Given the description of an element on the screen output the (x, y) to click on. 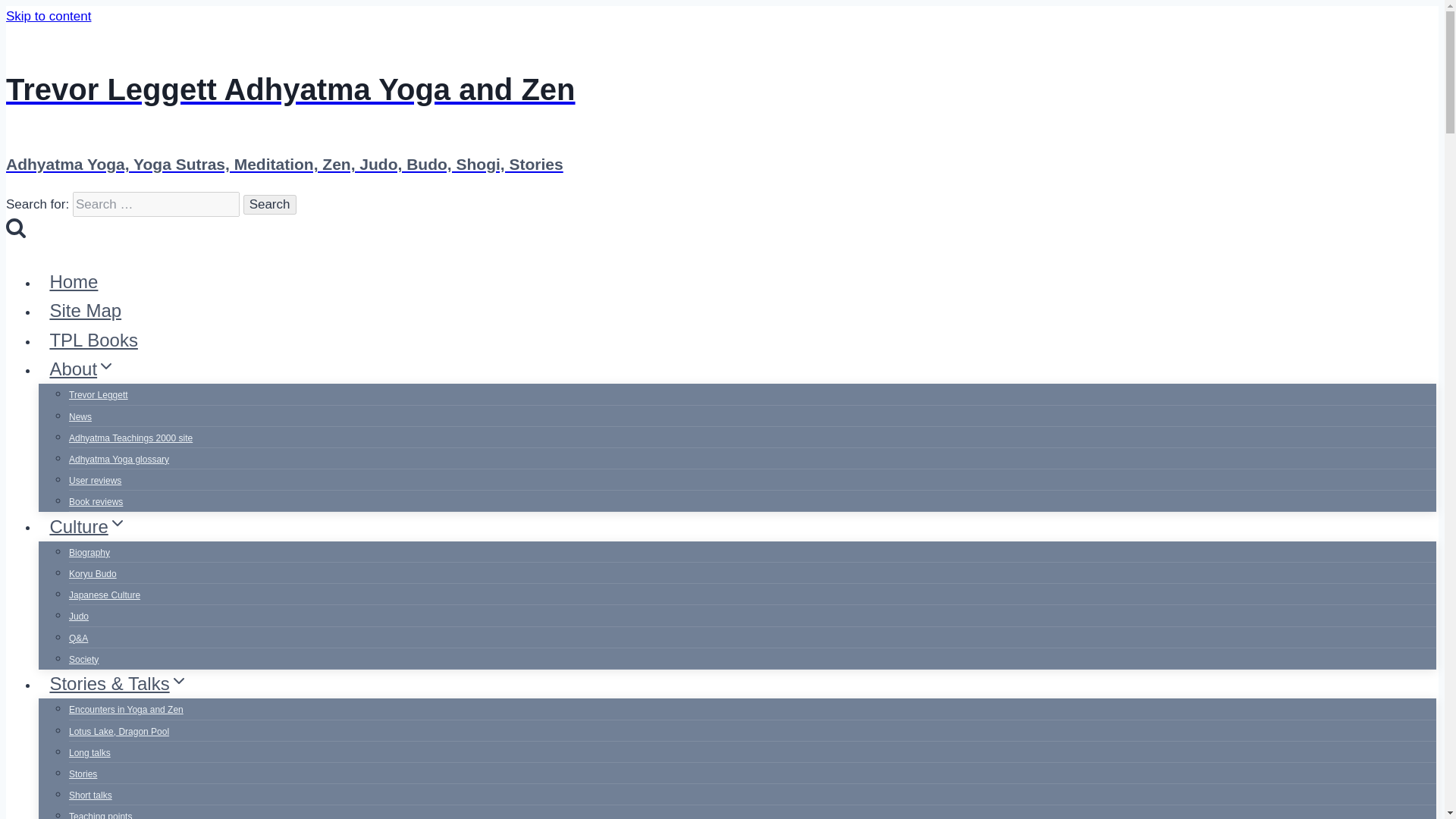
Short talks (90, 795)
CultureExpand (87, 526)
Adhyatma Teachings 2000 site (130, 438)
Society (83, 659)
Book reviews (95, 501)
AboutExpand (82, 368)
Skip to content (47, 16)
Koryu Budo (92, 573)
Adhyatma Yoga glossary (118, 459)
Trevor Leggett (98, 394)
Site Map (85, 310)
Stories (82, 774)
Search (270, 204)
Expand (116, 523)
Biography (89, 552)
